Given the description of an element on the screen output the (x, y) to click on. 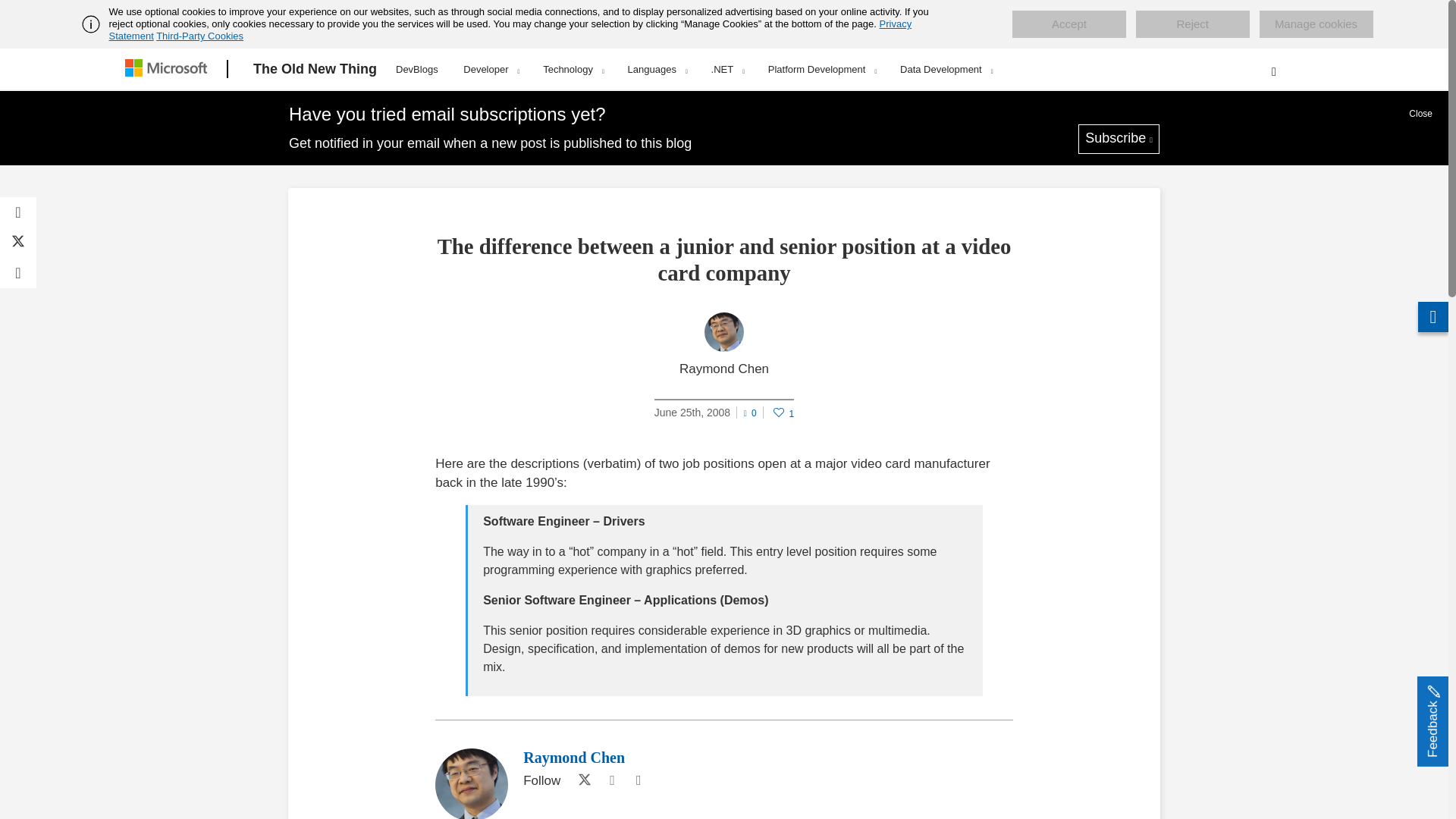
Privacy Statement (510, 29)
Share on LinkedIn (18, 272)
Accept (1068, 23)
Github (611, 780)
RSS Feed (637, 780)
Twitter (581, 780)
Languages (657, 69)
Reject (1192, 23)
DevBlogs (416, 67)
Developer (490, 69)
The Old New Thing (315, 69)
Technology (572, 69)
Manage cookies (1316, 23)
Third-Party Cookies (199, 35)
Share on Twitter (18, 242)
